Given the description of an element on the screen output the (x, y) to click on. 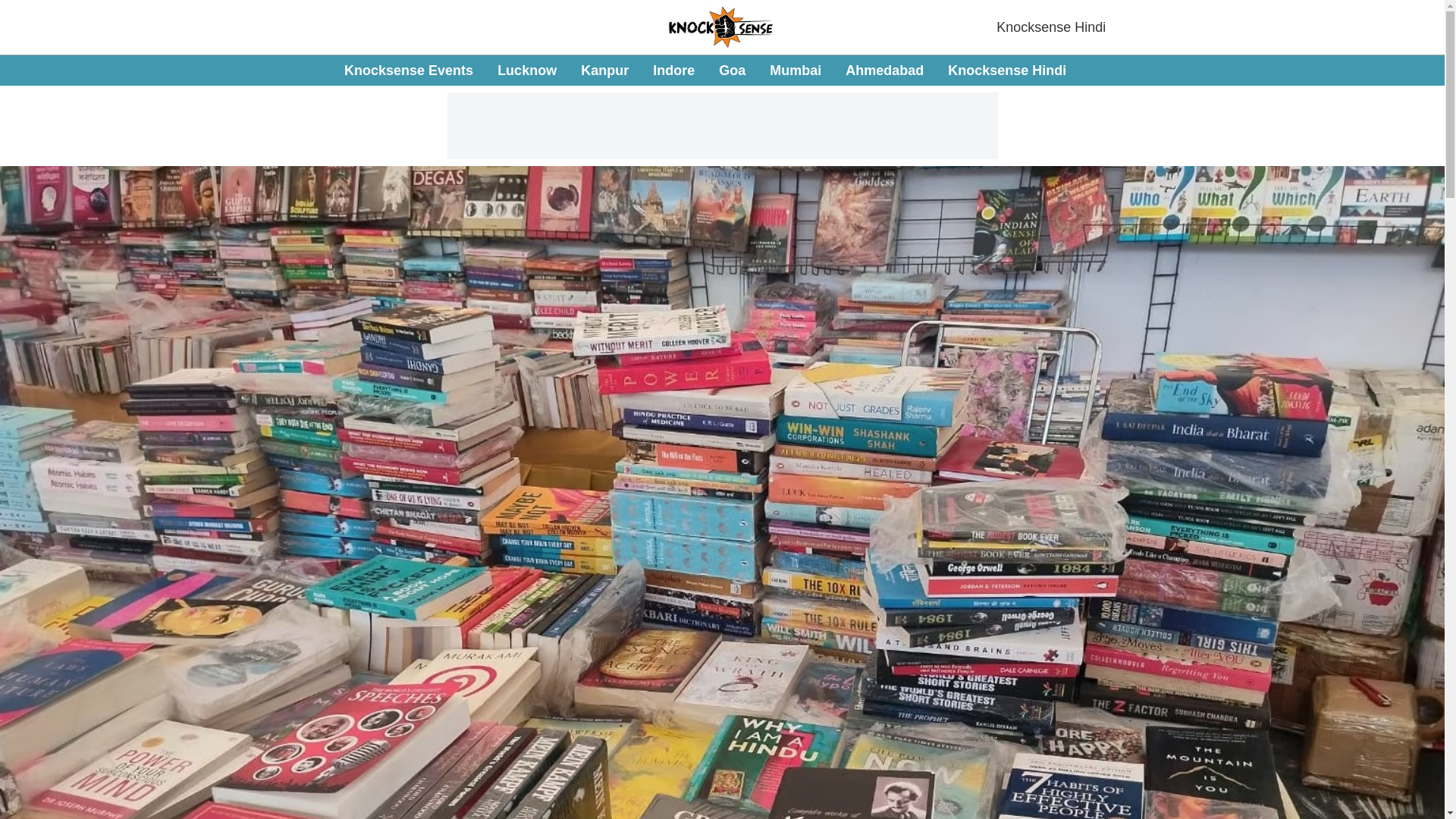
Knocksense Hindi (1050, 27)
Ahmedabad (884, 70)
Knocksense Events (408, 70)
Knocksense Hindi (1006, 70)
Lucknow (526, 70)
Mumbai (795, 70)
Kanpur (604, 70)
Indore (673, 70)
Goa (732, 70)
Dark Mode (1415, 70)
